Given the description of an element on the screen output the (x, y) to click on. 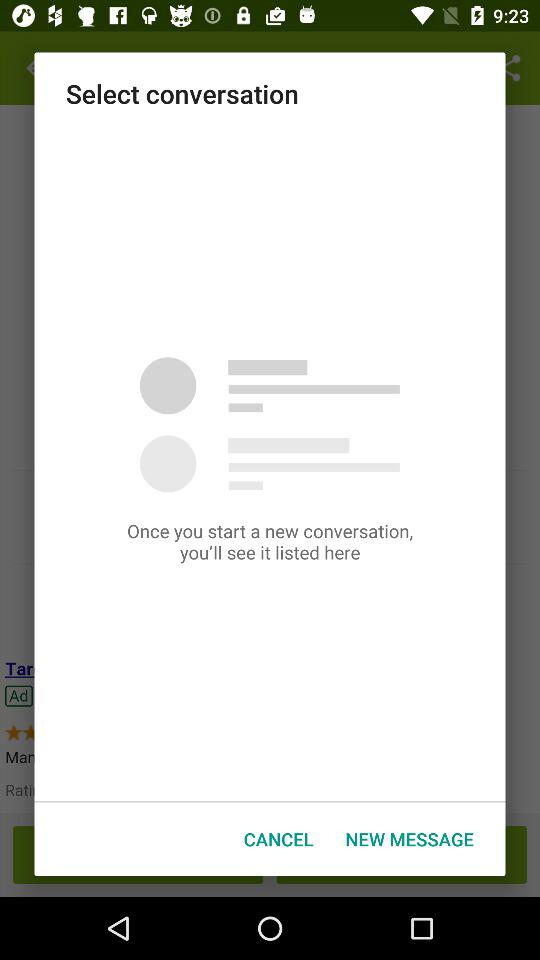
launch item to the left of the new message button (278, 838)
